Given the description of an element on the screen output the (x, y) to click on. 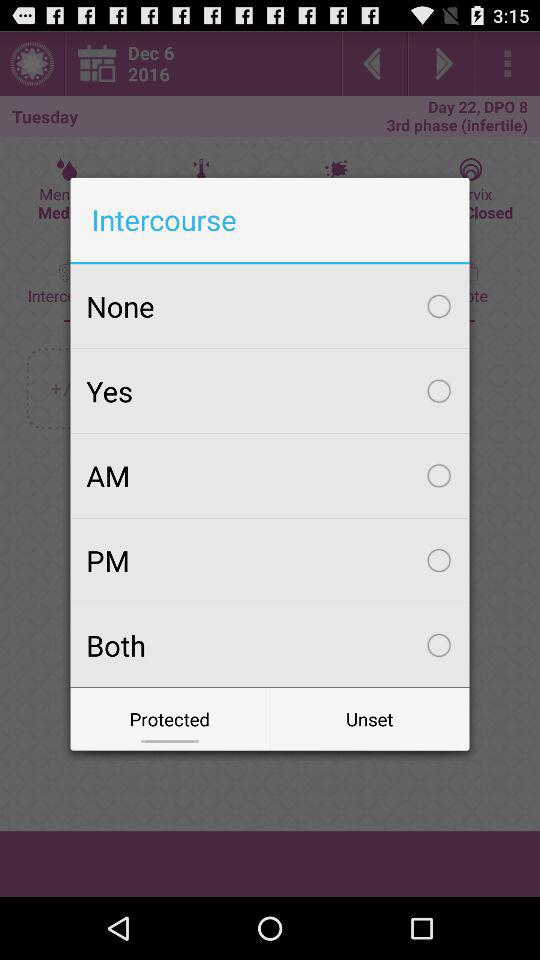
jump until pm icon (269, 560)
